Given the description of an element on the screen output the (x, y) to click on. 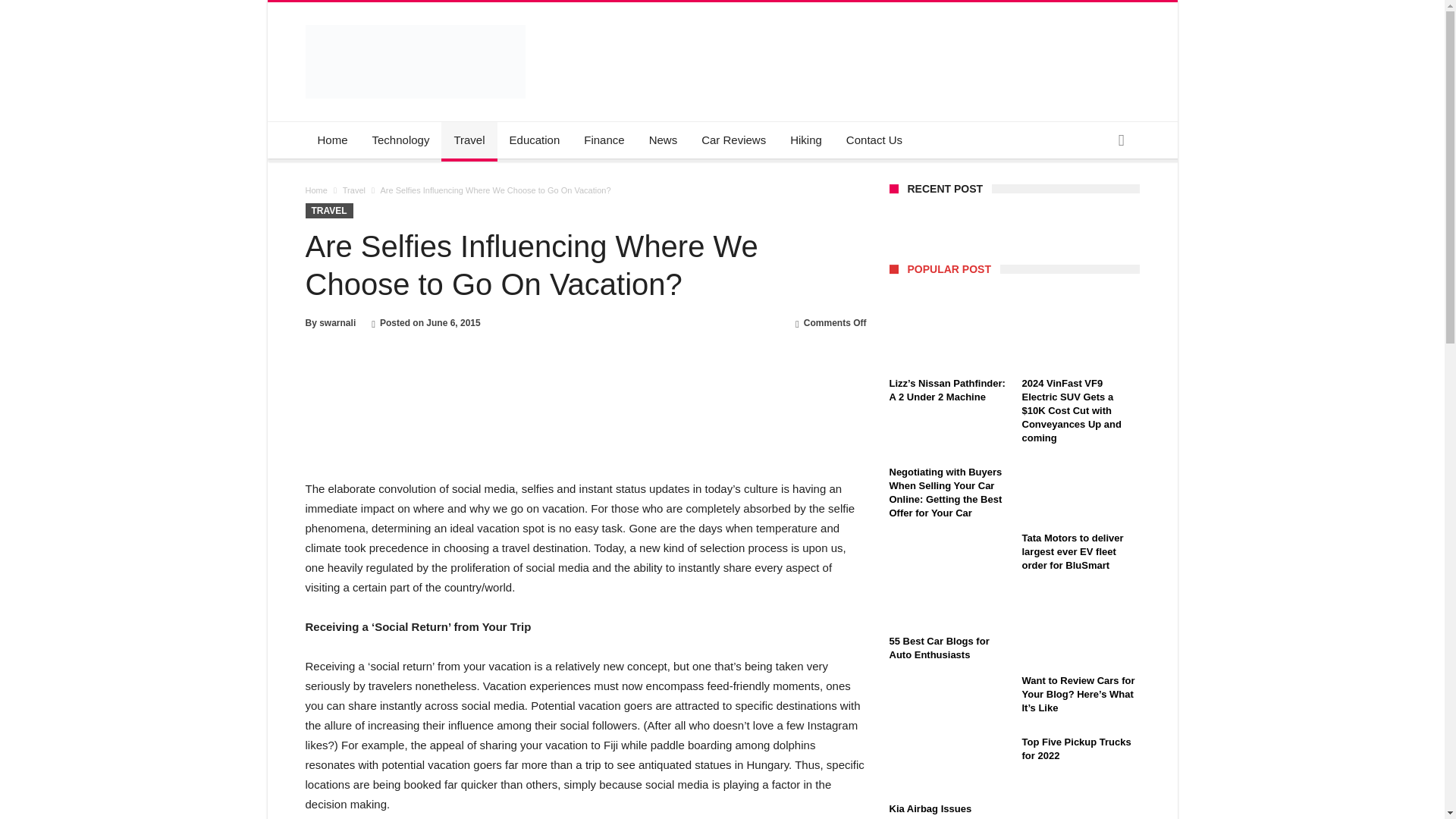
Home (331, 140)
Car Reviews (732, 140)
News (663, 140)
Travel (353, 189)
swarnali (336, 322)
Contact Us (874, 140)
Education (534, 140)
Finance (604, 140)
Home (315, 189)
Technology (400, 140)
